Given the description of an element on the screen output the (x, y) to click on. 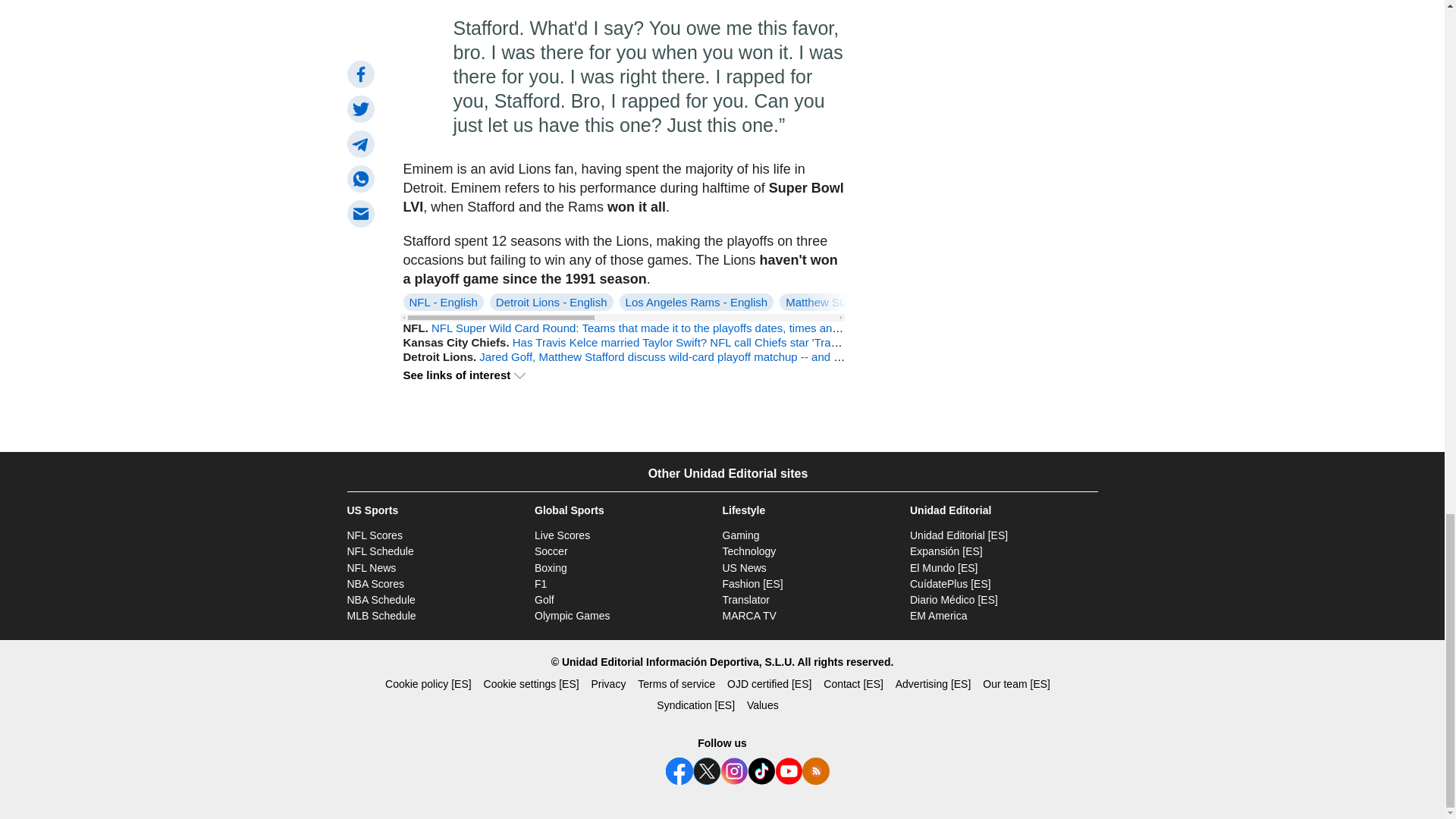
Open in new window (746, 599)
Open in new window (752, 583)
